Given the description of an element on the screen output the (x, y) to click on. 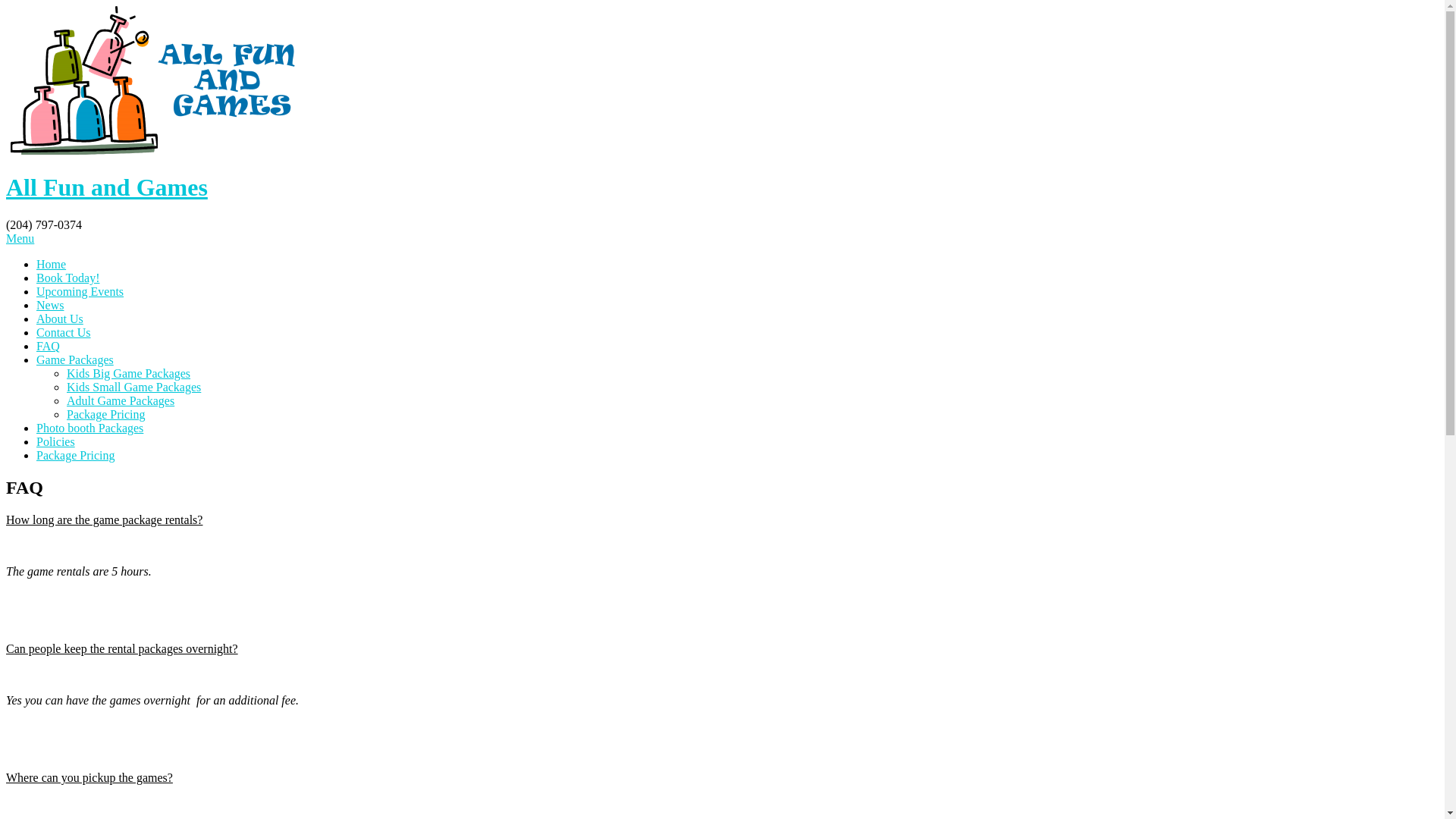
Contact Us Element type: text (63, 332)
Upcoming Events Element type: text (79, 291)
FAQ Element type: text (47, 345)
Policies Element type: text (55, 441)
Game Packages Element type: text (74, 359)
All Fun and Games Element type: text (722, 202)
Home Element type: text (50, 263)
Package Pricing Element type: text (75, 454)
Menu Element type: text (20, 238)
Adult Game Packages Element type: text (120, 400)
About Us Element type: text (59, 318)
Book Today! Element type: text (67, 277)
Kids Small Game Packages Element type: text (133, 386)
Kids Big Game Packages Element type: text (128, 373)
News Element type: text (49, 304)
Package Pricing Element type: text (105, 413)
Photo booth Packages Element type: text (89, 427)
